Given the description of an element on the screen output the (x, y) to click on. 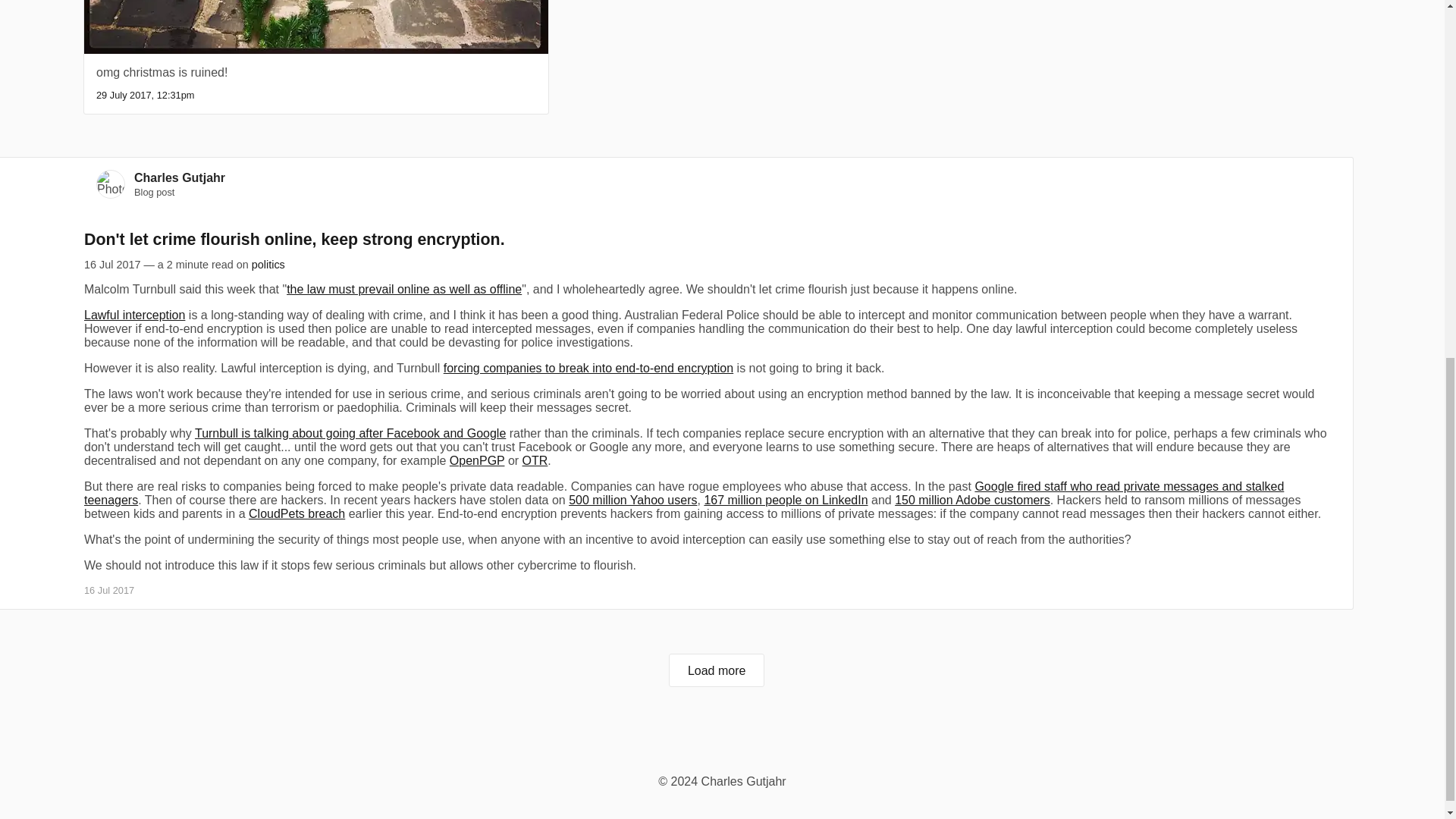
500 million Yahoo users (633, 499)
forcing companies to break into end-to-end encryption (588, 367)
Turnbull is talking about going after Facebook and Google (350, 432)
16 Jul 2017 (108, 590)
29 July 2017, 12:31pm (144, 94)
Lawful interception (134, 314)
the law must prevail online as well as offline (403, 288)
politics (268, 264)
OpenPGP (477, 460)
